Given the description of an element on the screen output the (x, y) to click on. 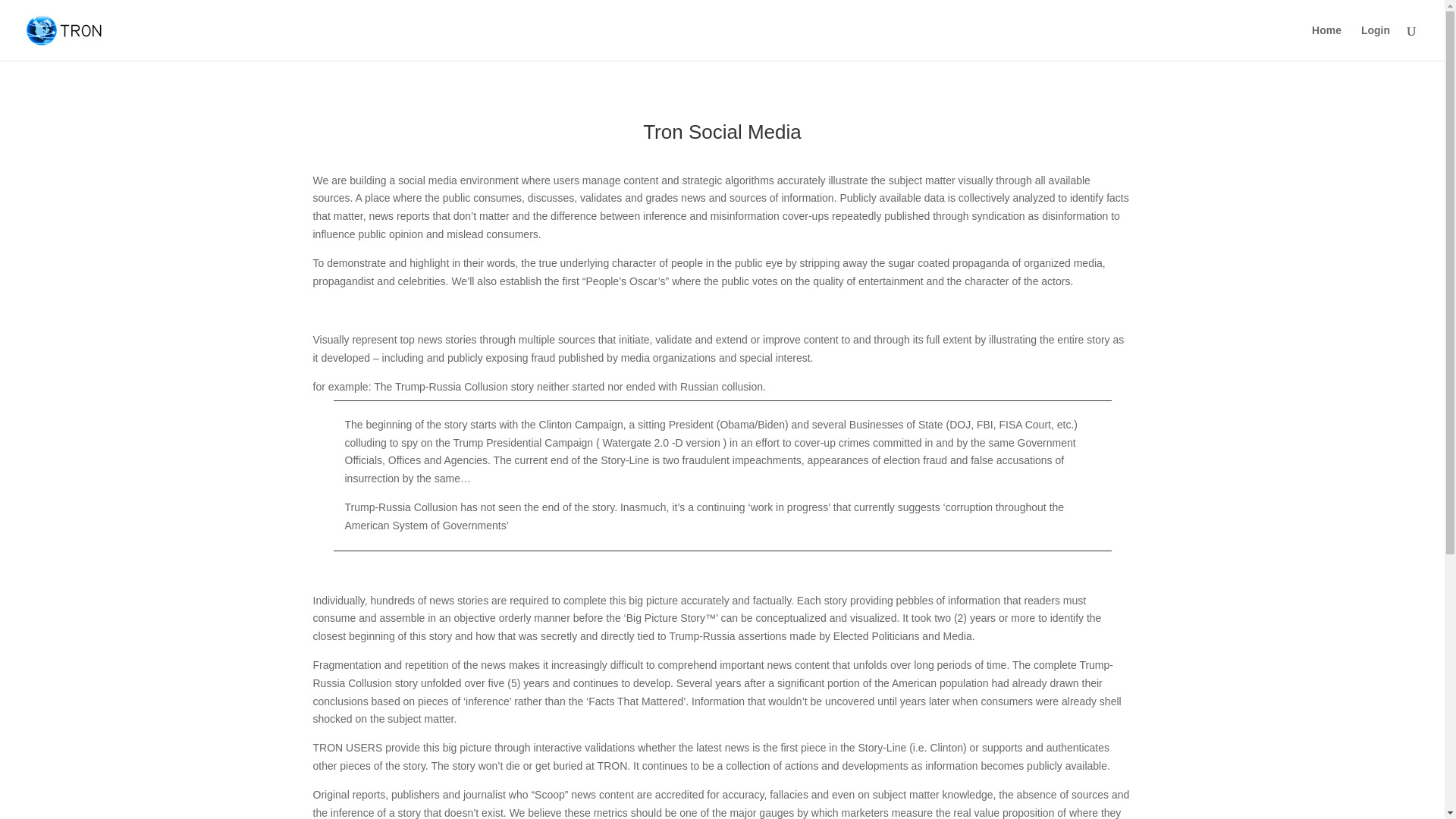
Home (1325, 42)
Login (1375, 42)
